Given the description of an element on the screen output the (x, y) to click on. 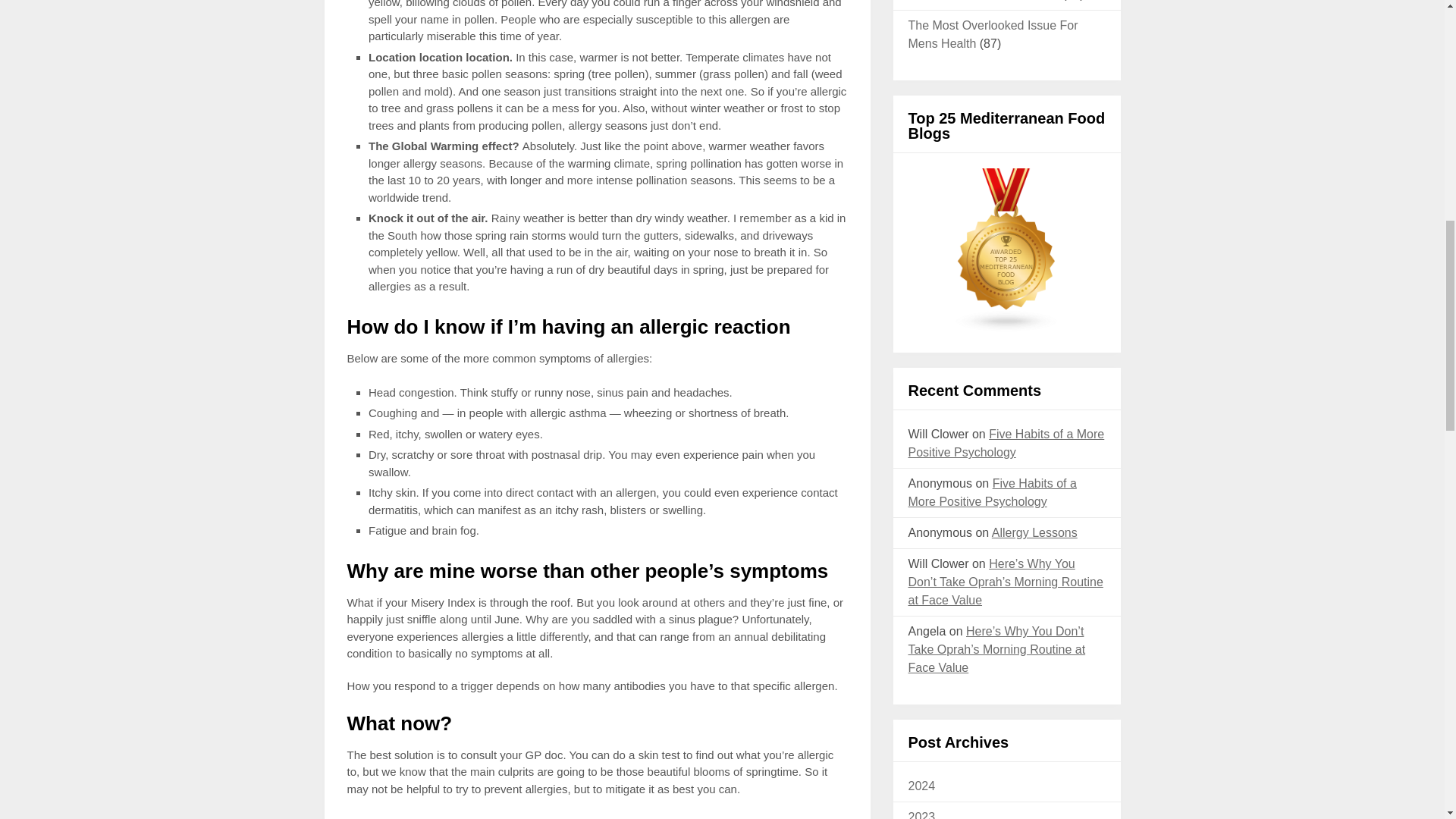
Five Habits of a More Positive Psychology (1006, 442)
The Most Overlooked Issue For Mens Health (993, 33)
Five Habits of a More Positive Psychology (992, 491)
2024 (922, 785)
2023 (922, 814)
Allergy Lessons (1034, 532)
